Given the description of an element on the screen output the (x, y) to click on. 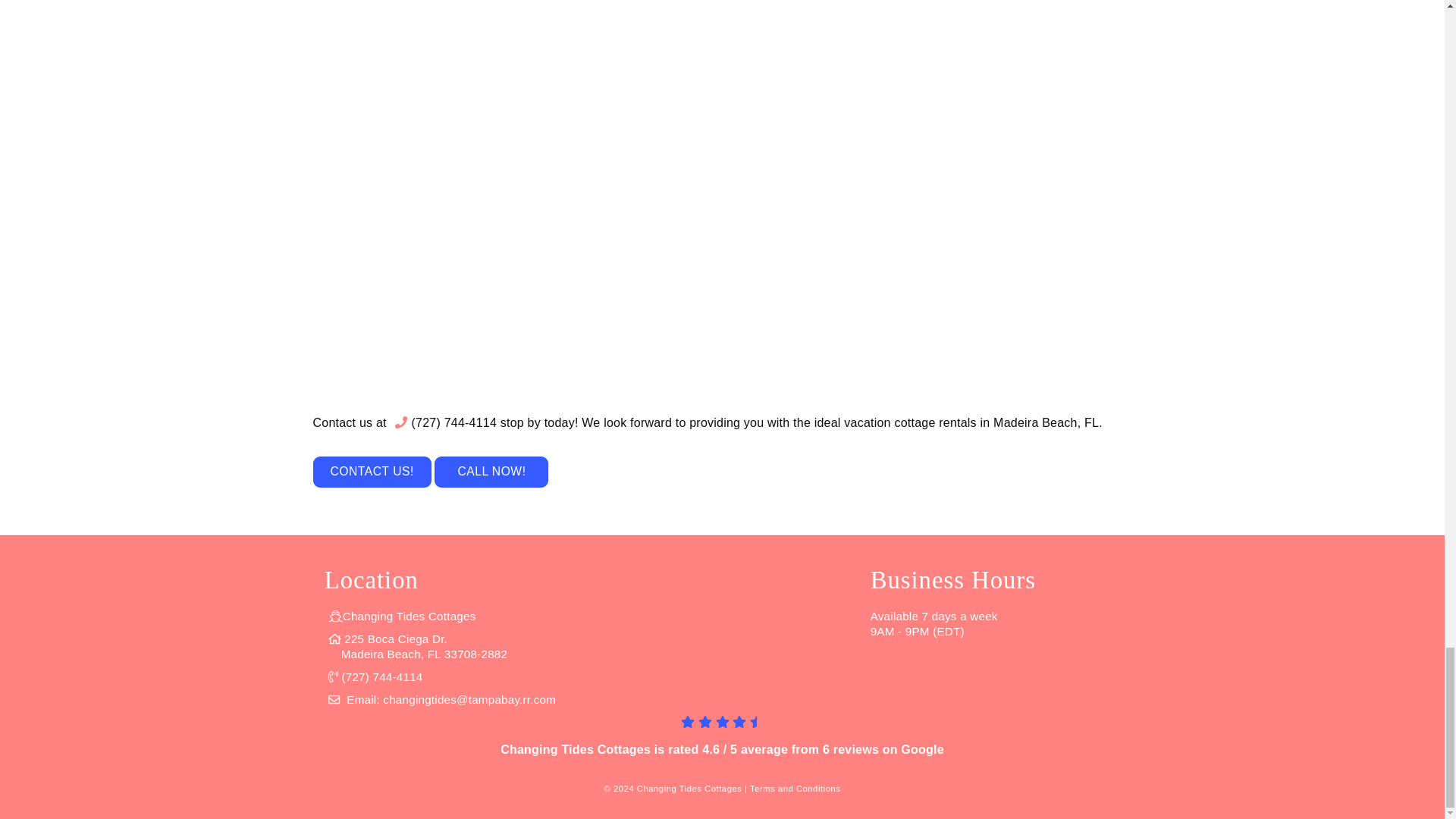
CALL NOW! (490, 471)
CONTACT US! (418, 646)
Terms and Conditions (371, 471)
